Given the description of an element on the screen output the (x, y) to click on. 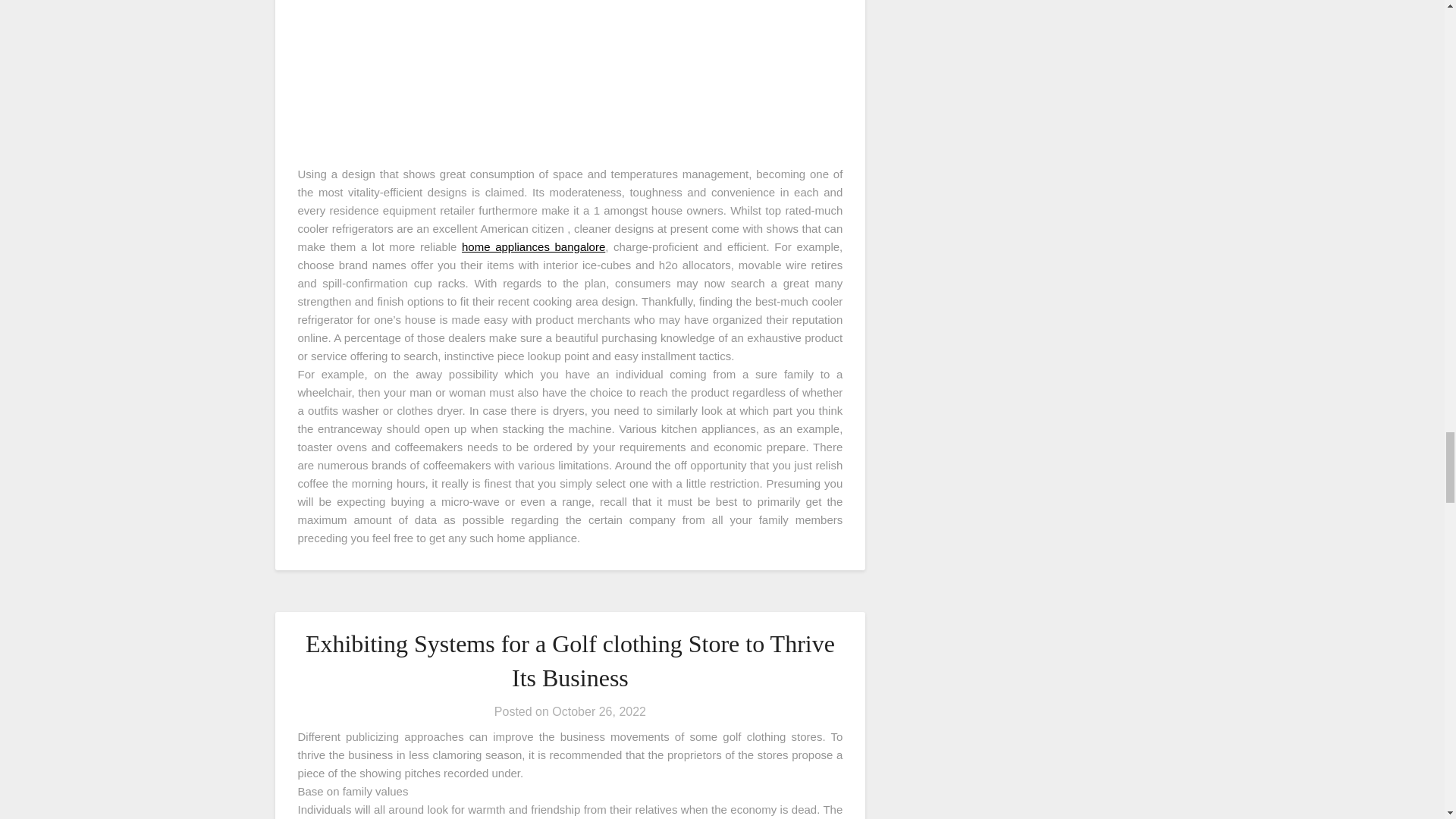
home appliances bangalore (533, 246)
October 26, 2022 (598, 711)
